Given the description of an element on the screen output the (x, y) to click on. 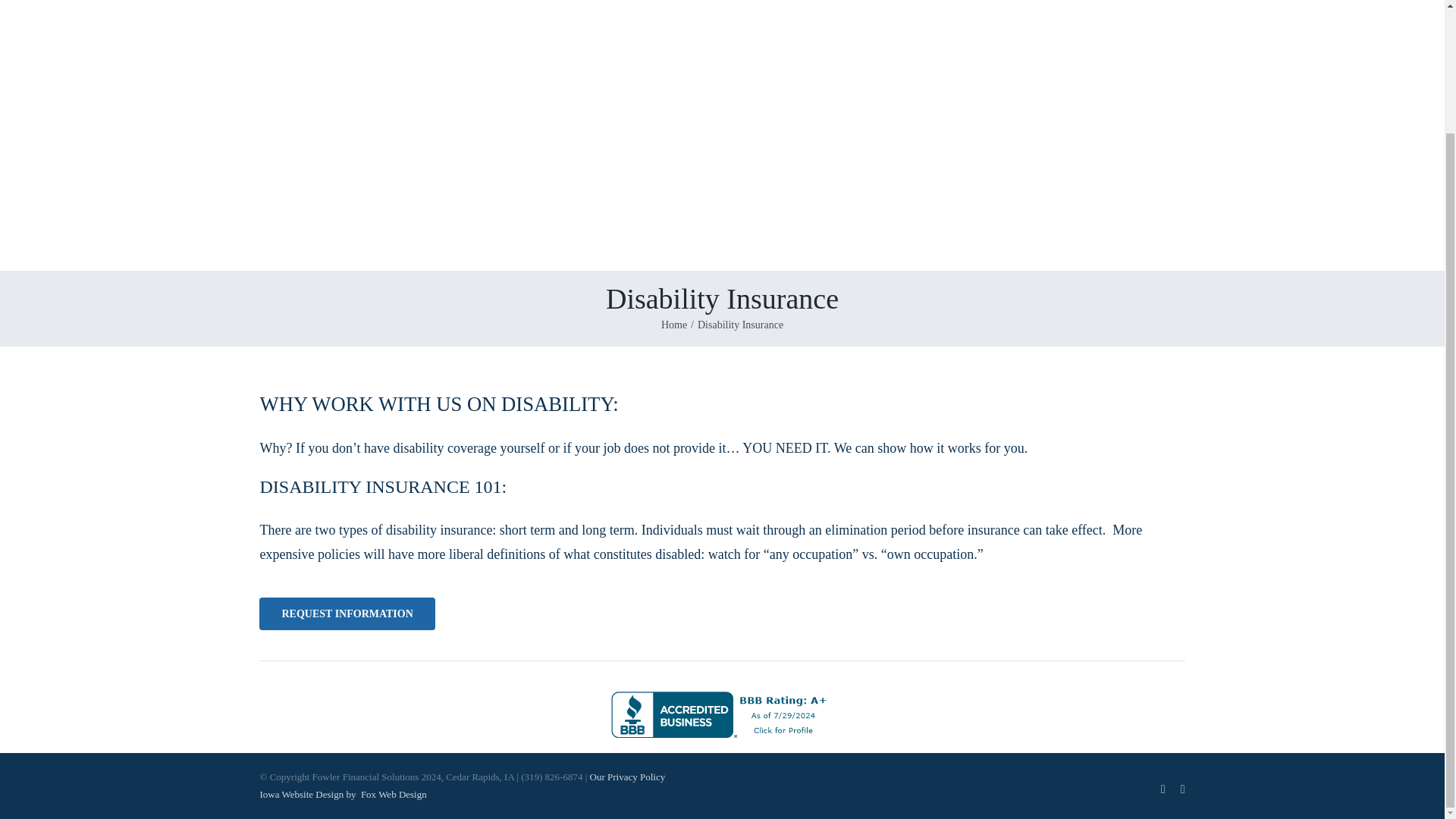
Home (674, 324)
REQUEST INFORMATION (722, 621)
REQUEST INFORMATION (346, 613)
Our Privacy Policy (627, 776)
Iowa Website Design by  Fox Web Design (342, 794)
